Given the description of an element on the screen output the (x, y) to click on. 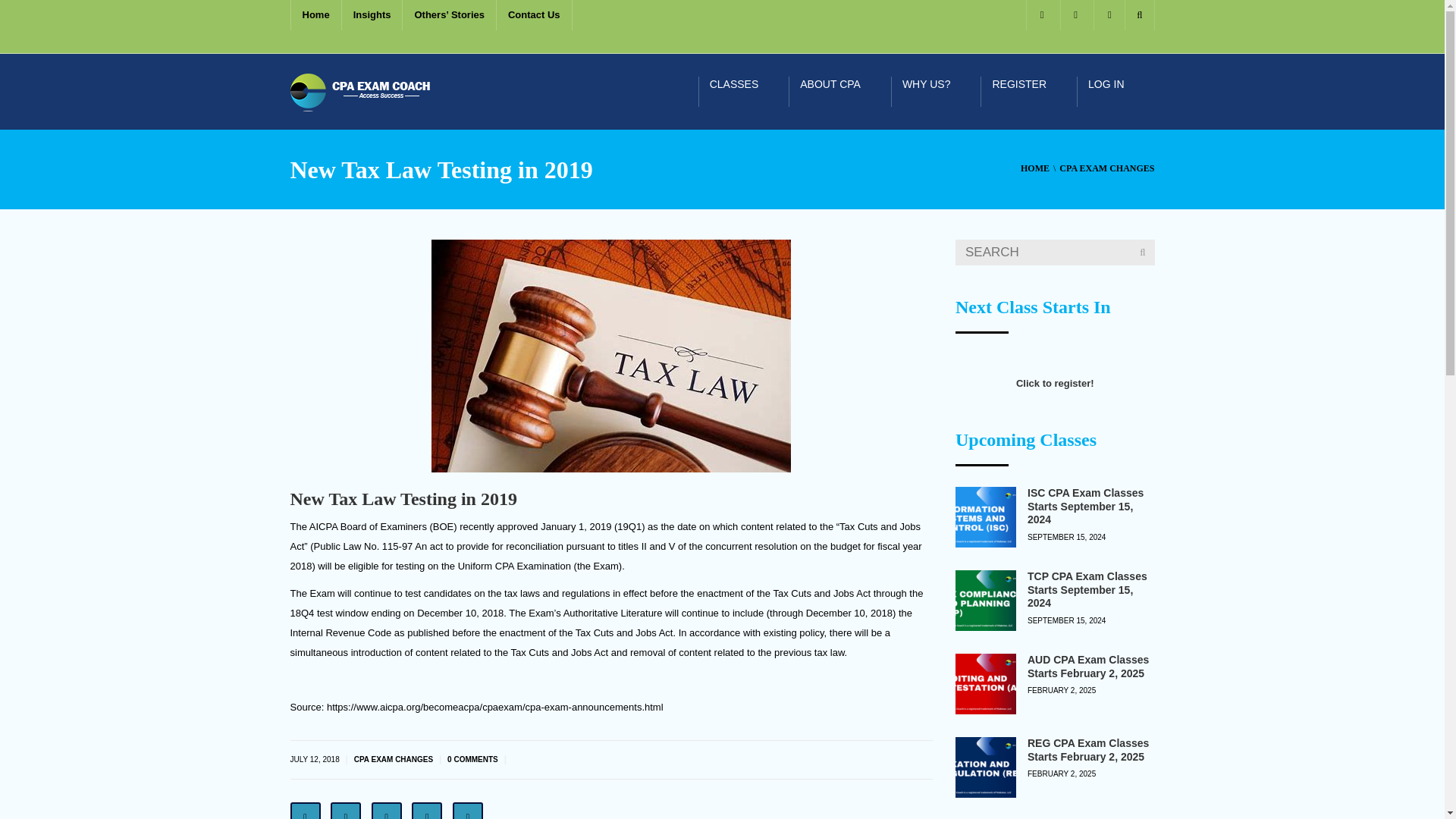
WHY US? (936, 91)
Contact Us (534, 15)
TCP CPA Exam Classes Starts September 15, 2024 (1087, 589)
LOG IN (1115, 91)
AUD CPA Exam Classes Starts February 2, 2025 (985, 683)
Share on Facebook (304, 810)
Insights (371, 15)
ISC CPA Exam Classes Starts September 15, 2024 (1084, 505)
New Tax Law Testing in 2019 (610, 355)
Home (314, 15)
